Given the description of an element on the screen output the (x, y) to click on. 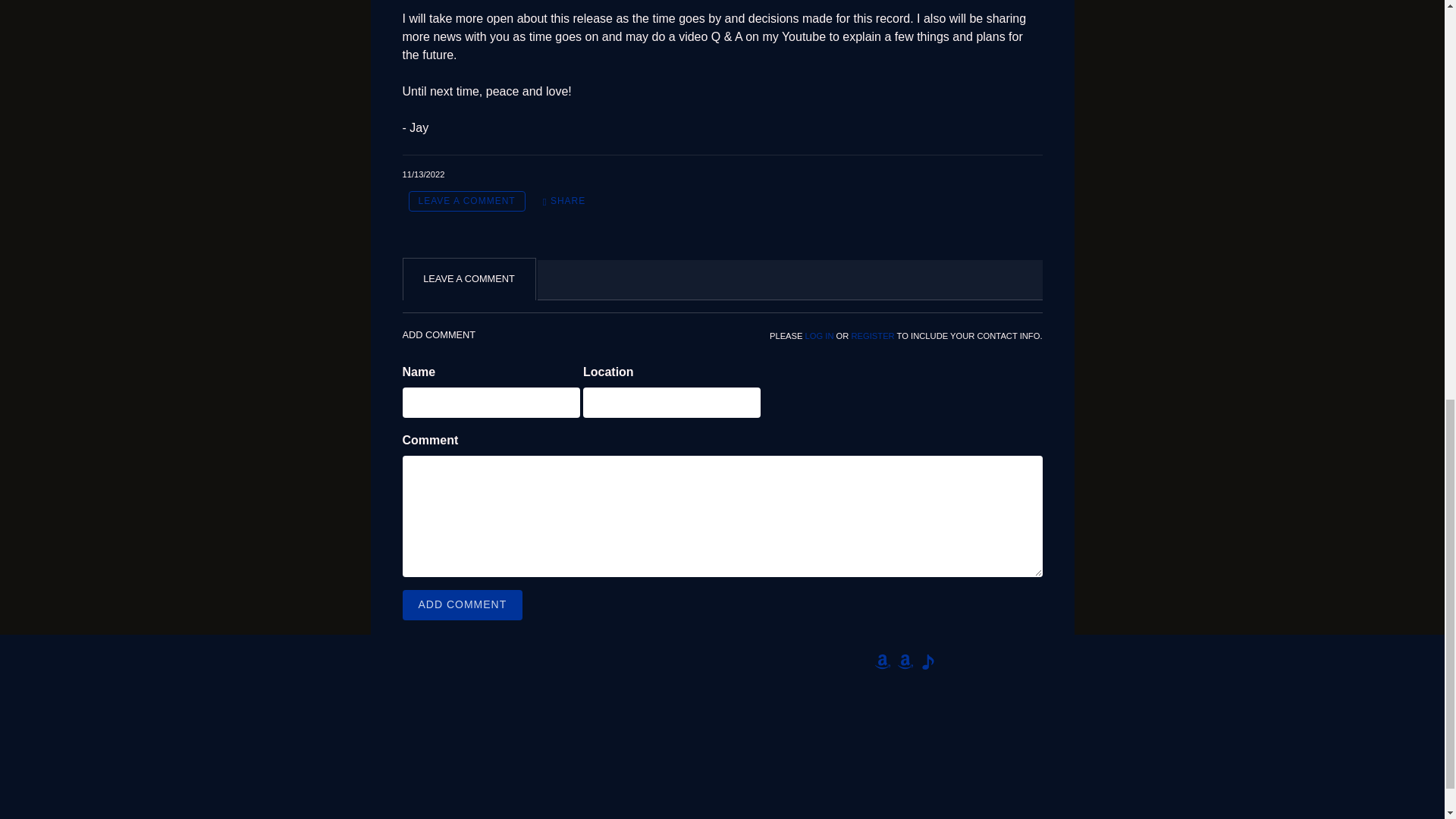
SHARE (564, 200)
November 13, 2022 21:30 (422, 174)
Leave a comment (465, 200)
ADD COMMENT (461, 604)
LOG IN (819, 335)
REGISTER (873, 335)
LEAVE A COMMENT (465, 200)
Share Midnight Museum Of Memory (564, 200)
